Given the description of an element on the screen output the (x, y) to click on. 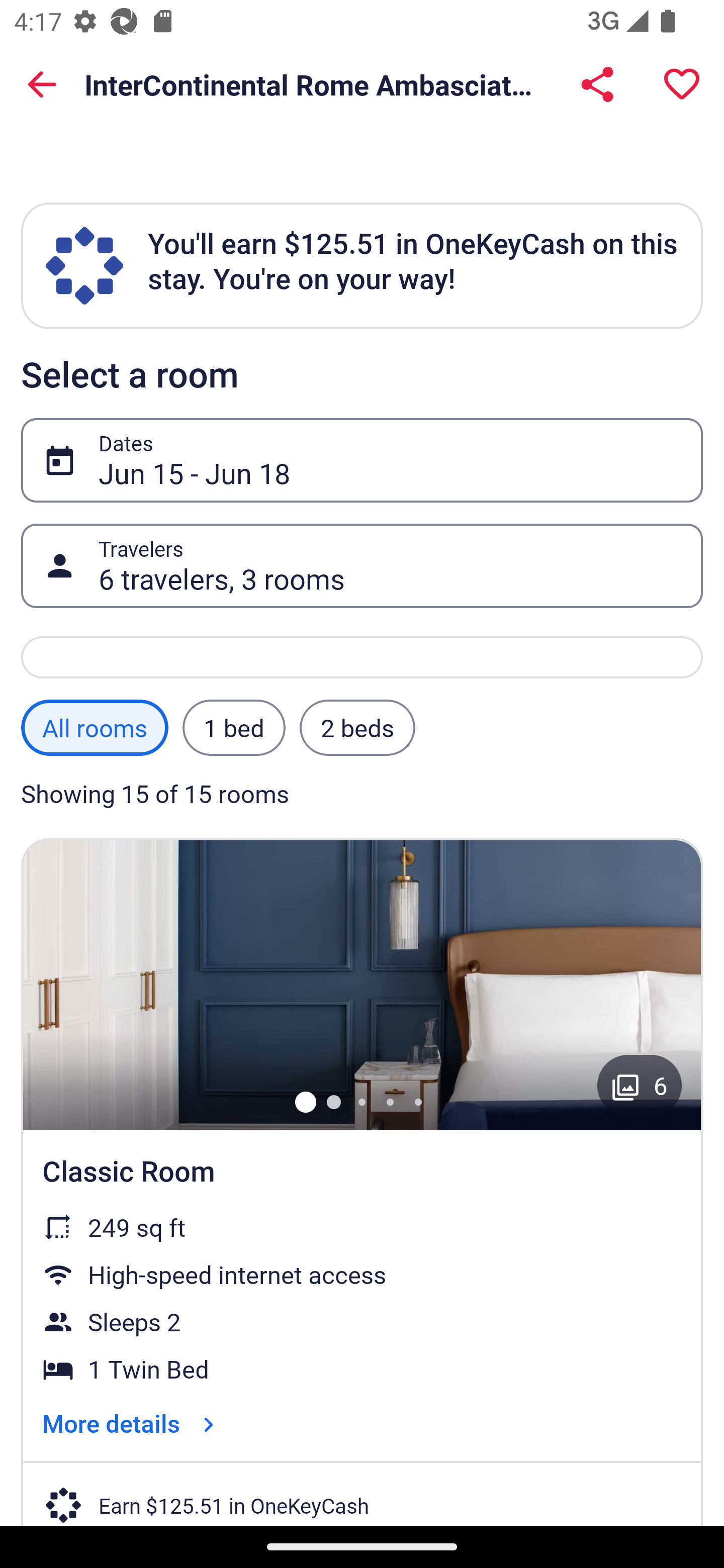
Back (42, 84)
Save property to a trip (681, 84)
Jun 15 - Jun 18 Dates (361, 460)
Jun 15 - Jun 18 (390, 460)
6 travelers, 3 rooms Travelers (361, 565)
6 travelers, 3 rooms (390, 565)
All rooms (94, 727)
1 bed (233, 727)
2 beds (357, 727)
Premium bedding, minibar, in-room safe, desk (361, 984)
Gallery button with 6 images (639, 1084)
